Given the description of an element on the screen output the (x, y) to click on. 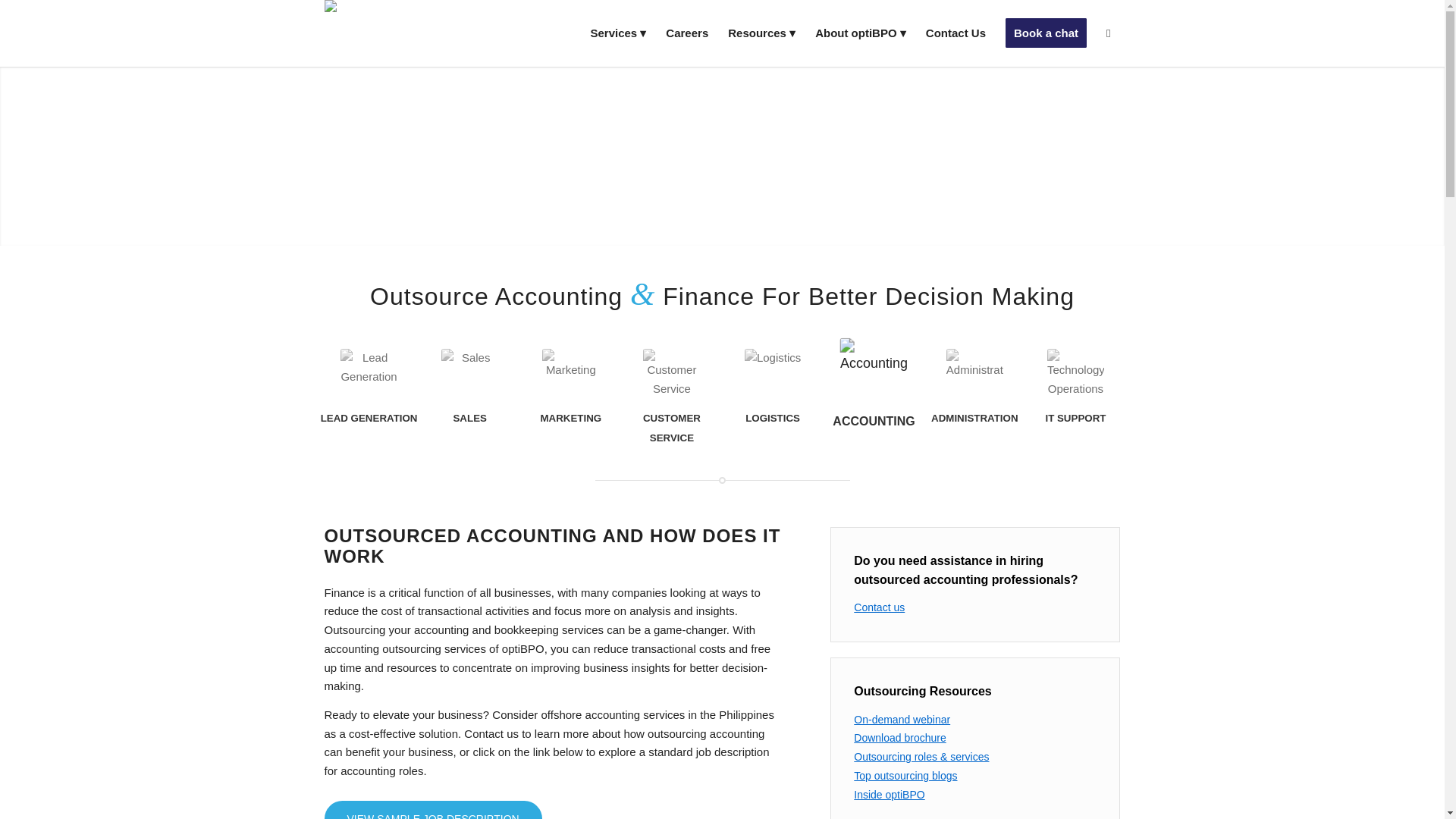
Marketing (569, 376)
Accounting (868, 366)
About optiBPO (860, 33)
Resources (761, 33)
Customer Service (671, 376)
Logistics (773, 376)
VIEW SAMPLE JOB DESCRIPTION (432, 809)
Administration (974, 376)
Top outsourcing blogs (904, 775)
On-demand webinar (901, 719)
Services (617, 33)
Sales (469, 376)
Book a chat (1045, 33)
Technology Operations (1074, 376)
Download brochure (898, 737)
